Given the description of an element on the screen output the (x, y) to click on. 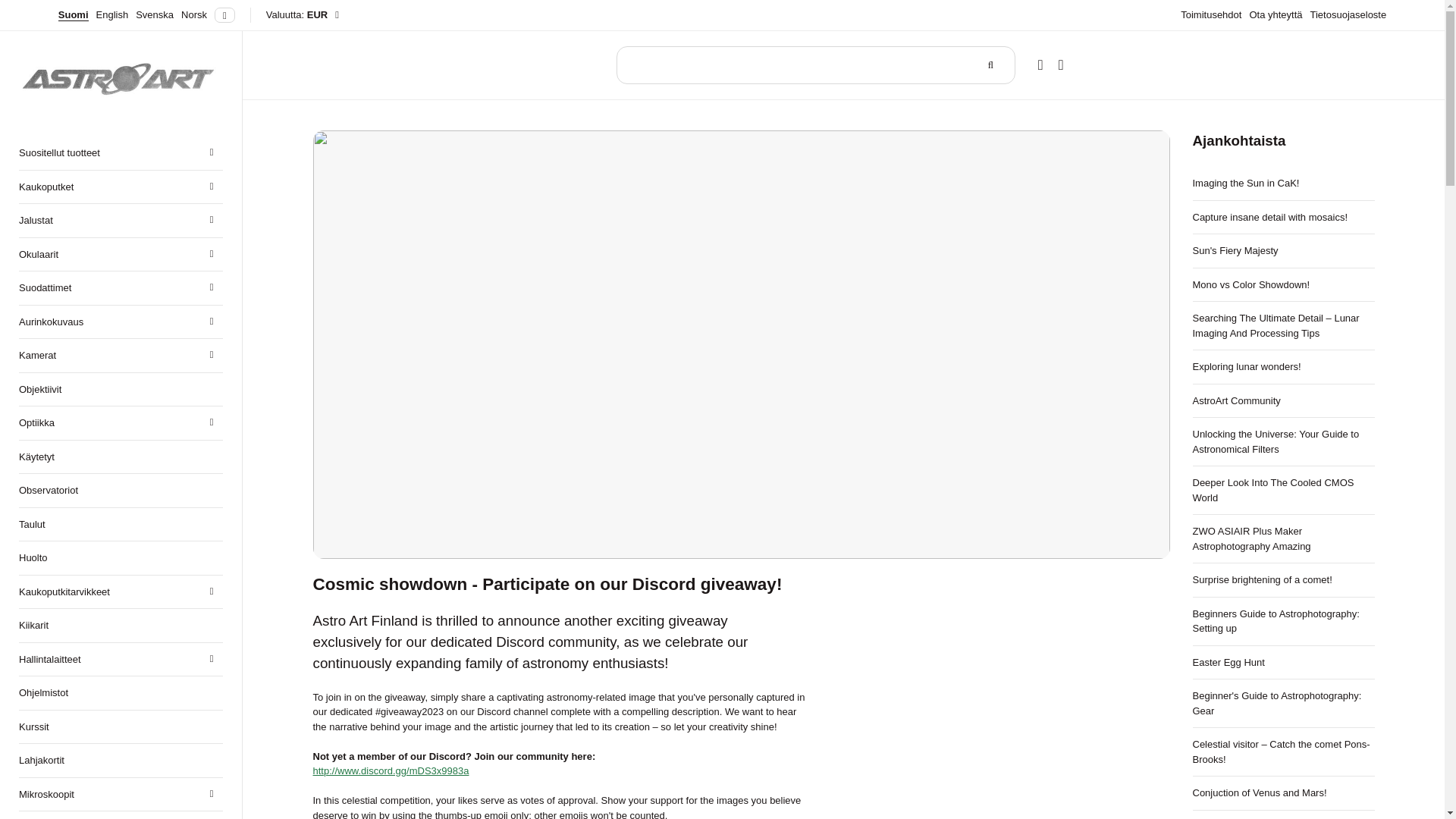
Kaukoputkitarvikkeet (120, 592)
Optiikka (120, 422)
Suodattimet (120, 287)
Suodattimet (120, 287)
Toimitusehdot (1210, 14)
Okulaarit (120, 254)
Objektiivit (120, 389)
Kiikarit (120, 625)
Kamerat (120, 355)
Okulaarit (120, 254)
